Given the description of an element on the screen output the (x, y) to click on. 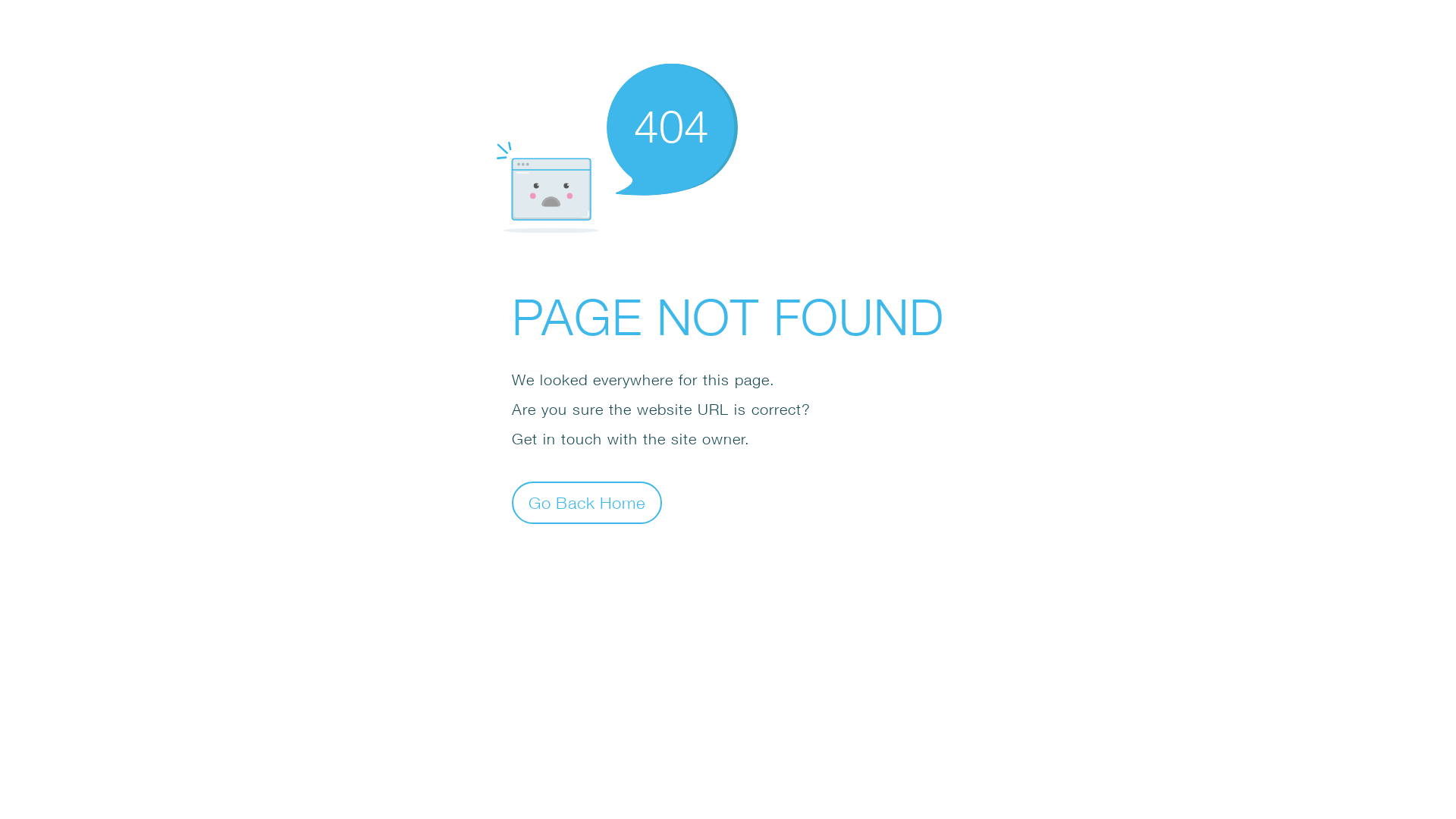
Go Back Home Element type: text (586, 502)
